Given the description of an element on the screen output the (x, y) to click on. 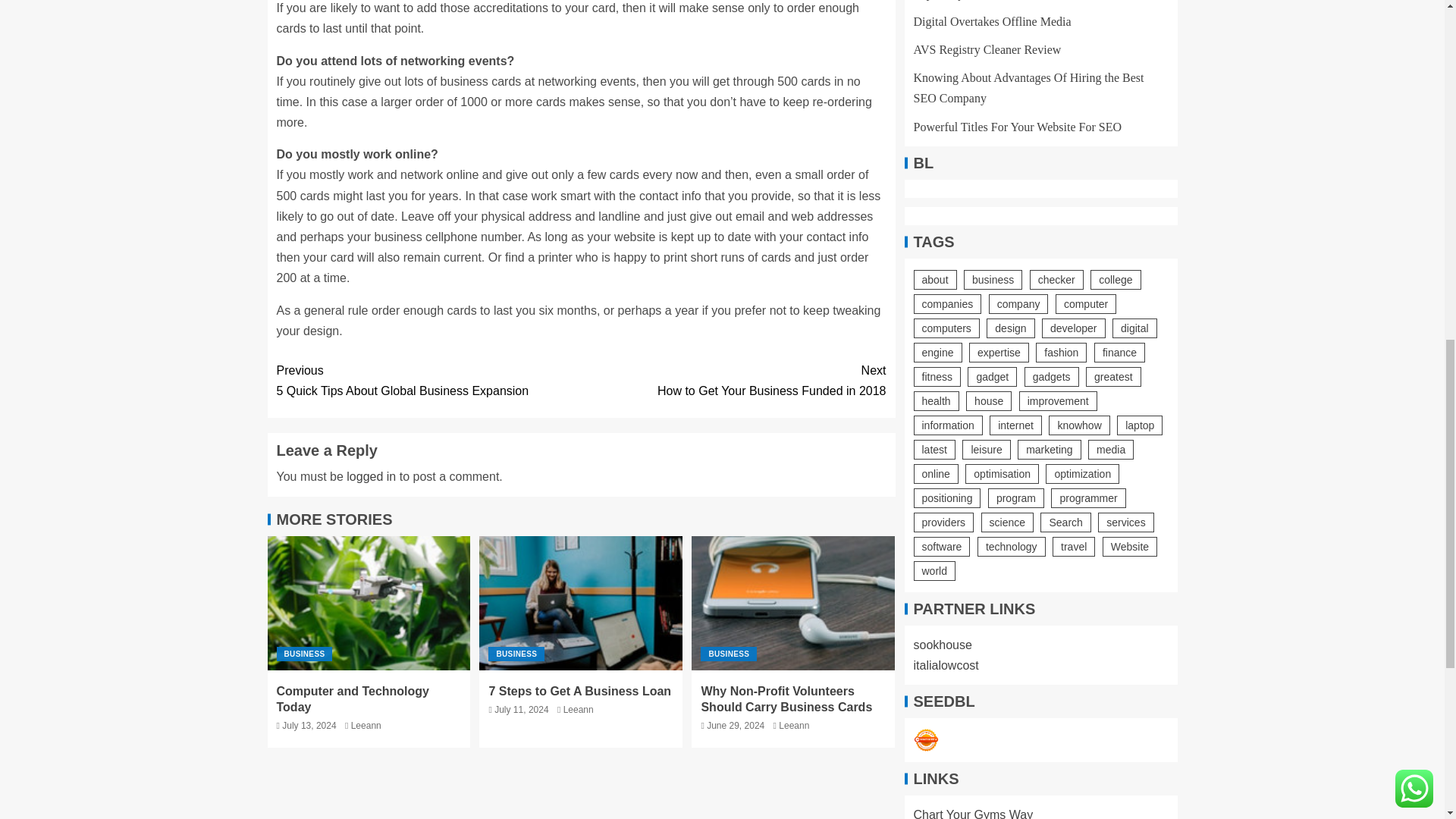
logged in (371, 476)
BUSINESS (303, 653)
BUSINESS (728, 653)
Why Non-Profit Volunteers Should Carry Business Cards (732, 380)
7 Steps to Get A Business Loan (793, 603)
Leeann (579, 690)
Computer and Technology Today (365, 725)
7 Steps to Get A Business Loan (368, 603)
Leeann (580, 603)
Computer and Technology Today (793, 725)
Seedbacklink (352, 698)
Why Non-Profit Volunteers Should Carry Business Cards (925, 739)
BUSINESS (786, 698)
